Given the description of an element on the screen output the (x, y) to click on. 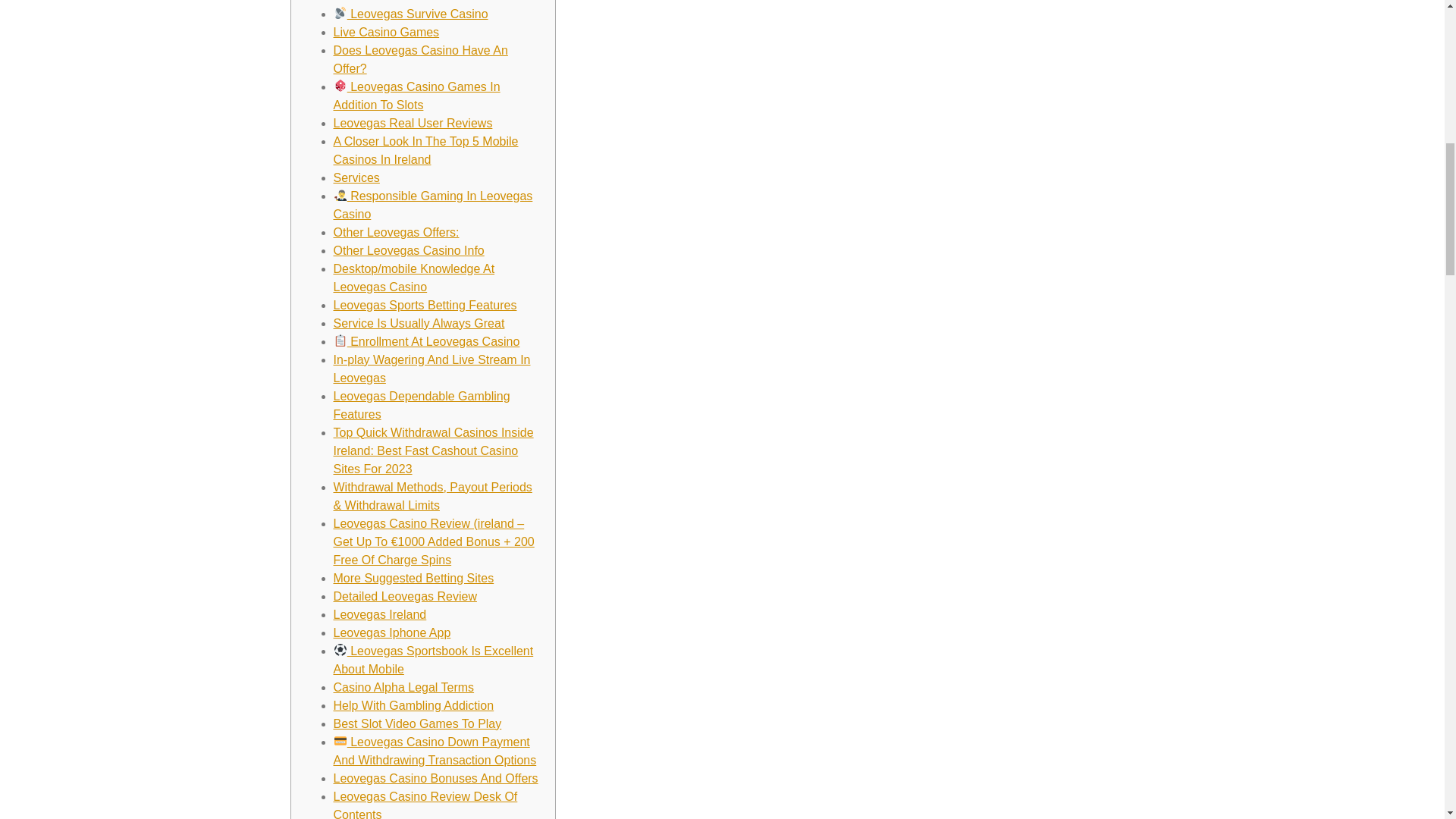
Detailed Leovegas Review (405, 595)
Leovegas Real User Reviews (413, 123)
Leovegas Iphone App (392, 632)
Casino Alpha Legal Terms (403, 686)
Enrollment At Leovegas Casino (426, 341)
Leovegas Casino Review Desk Of Contents (425, 804)
Responsible Gaming In Leovegas Casino (432, 204)
Does Leovegas Casino Have An Offer? (420, 59)
Best Slot Video Games To Play (417, 723)
Live Casino Games (386, 31)
Service Is Usually Always Great (419, 323)
Other Leovegas Casino Info (408, 250)
A Closer Look In The Top 5 Mobile Casinos In Ireland (425, 150)
Other Leovegas Offers: (396, 232)
Leovegas Survive Casino (410, 13)
